Given the description of an element on the screen output the (x, y) to click on. 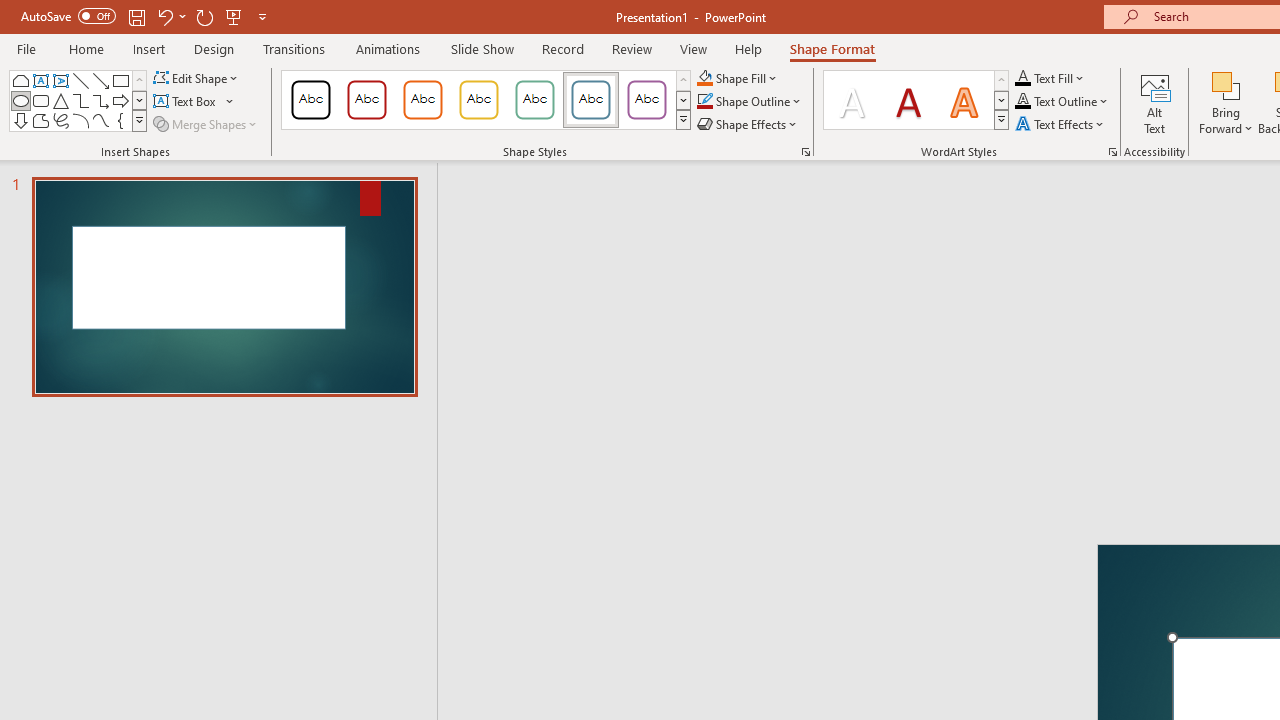
Draw Horizontal Text Box (185, 101)
Rectangle: Top Corners Snipped (20, 80)
Colored Outline - Black, Dark 1 (310, 100)
Text Effects (1061, 124)
Text Fill RGB(0, 0, 0) (1023, 78)
